Given the description of an element on the screen output the (x, y) to click on. 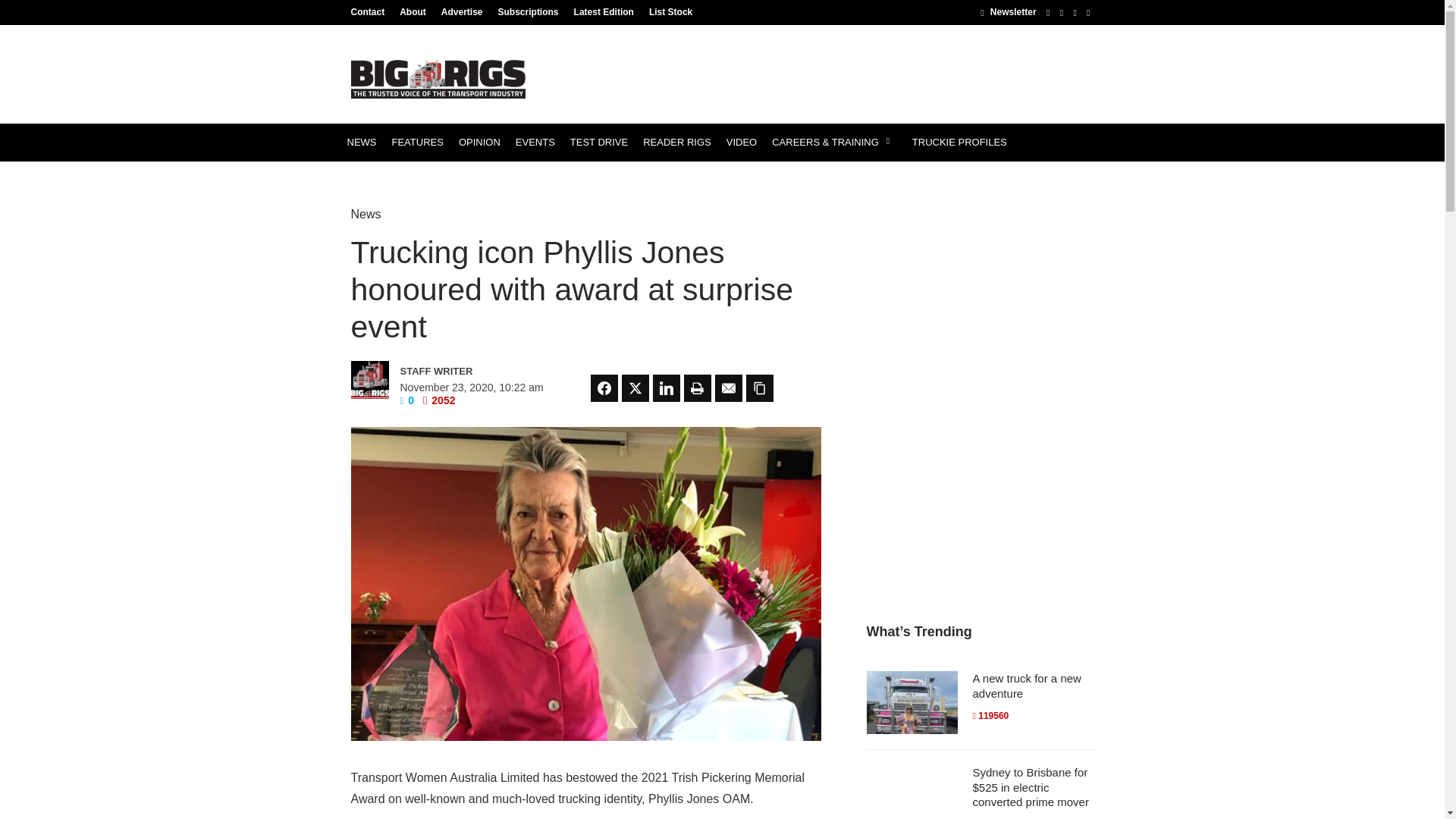
TEST DRIVE (598, 142)
Share on Email (728, 388)
MARKETPLACE (383, 180)
Share on LinkedIn (665, 388)
Subscriptions (528, 11)
VIDEO (741, 142)
News (365, 214)
Share on Facebook (604, 388)
Latest Edition (604, 11)
List Stock (667, 11)
NEWS (361, 142)
About (412, 11)
Advertise (461, 11)
View all posts by Staff Writer (465, 371)
Share on Print (697, 388)
